Given the description of an element on the screen output the (x, y) to click on. 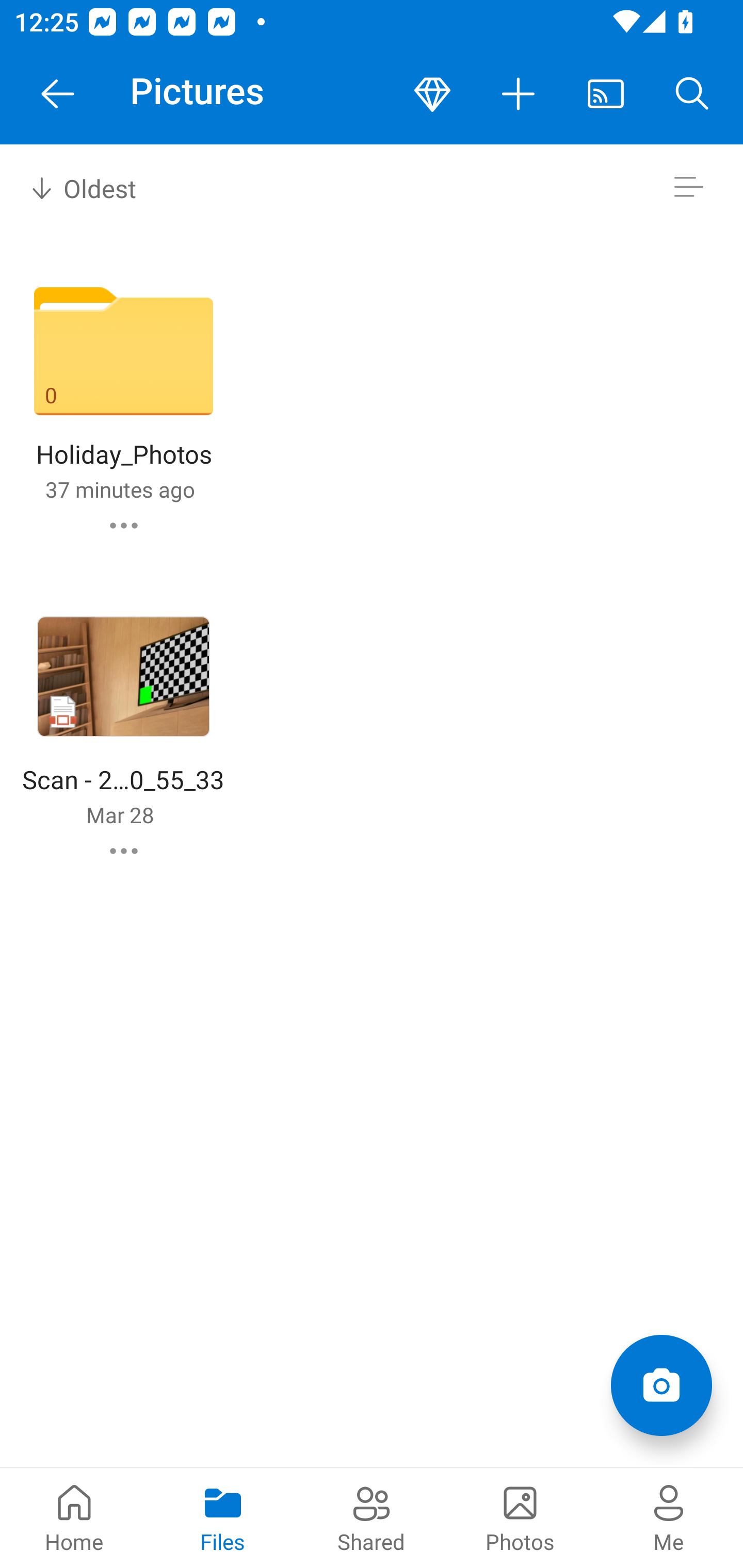
Navigate Up (57, 93)
Cast. Disconnected (605, 93)
Premium button (432, 93)
More actions button (518, 93)
Search button (692, 93)
Oldest Sort by combo box, sort by oldest (80, 187)
Switch to list view (688, 187)
37 minutes ago (119, 489)
Holiday_Photos commands (123, 525)
Mar 28 (120, 814)
Scan - 2024-03-28 10_55_33 commands (123, 851)
Add items Scan (660, 1385)
Home pivot Home (74, 1517)
Shared pivot Shared (371, 1517)
Photos pivot Photos (519, 1517)
Me pivot Me (668, 1517)
